Given the description of an element on the screen output the (x, y) to click on. 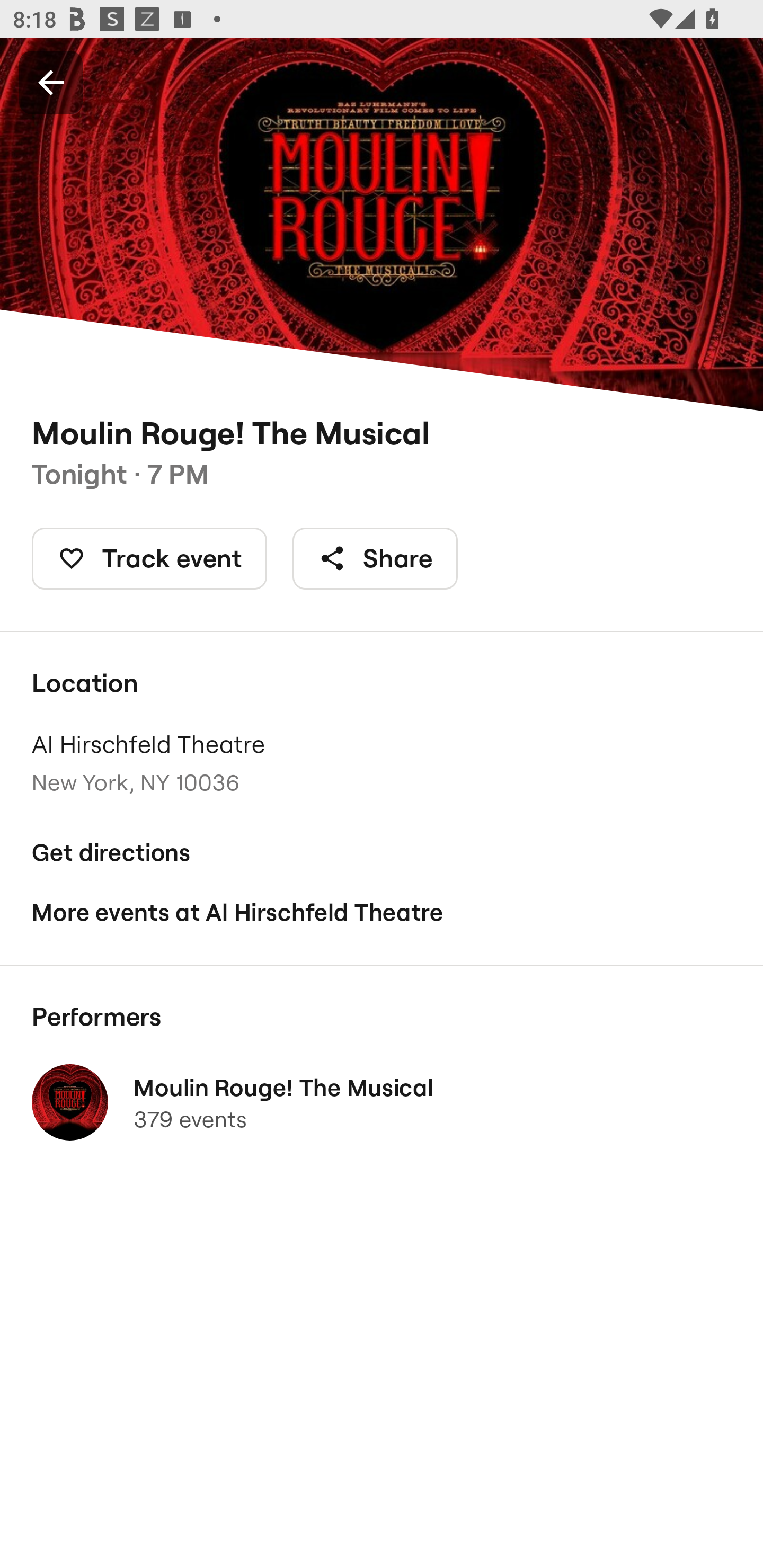
Back (50, 81)
Track event (149, 557)
Share (374, 557)
Get directions (381, 852)
More events at Al Hirschfeld Theatre (381, 912)
Moulin Rouge! The Musical 379 events (381, 1102)
